Given the description of an element on the screen output the (x, y) to click on. 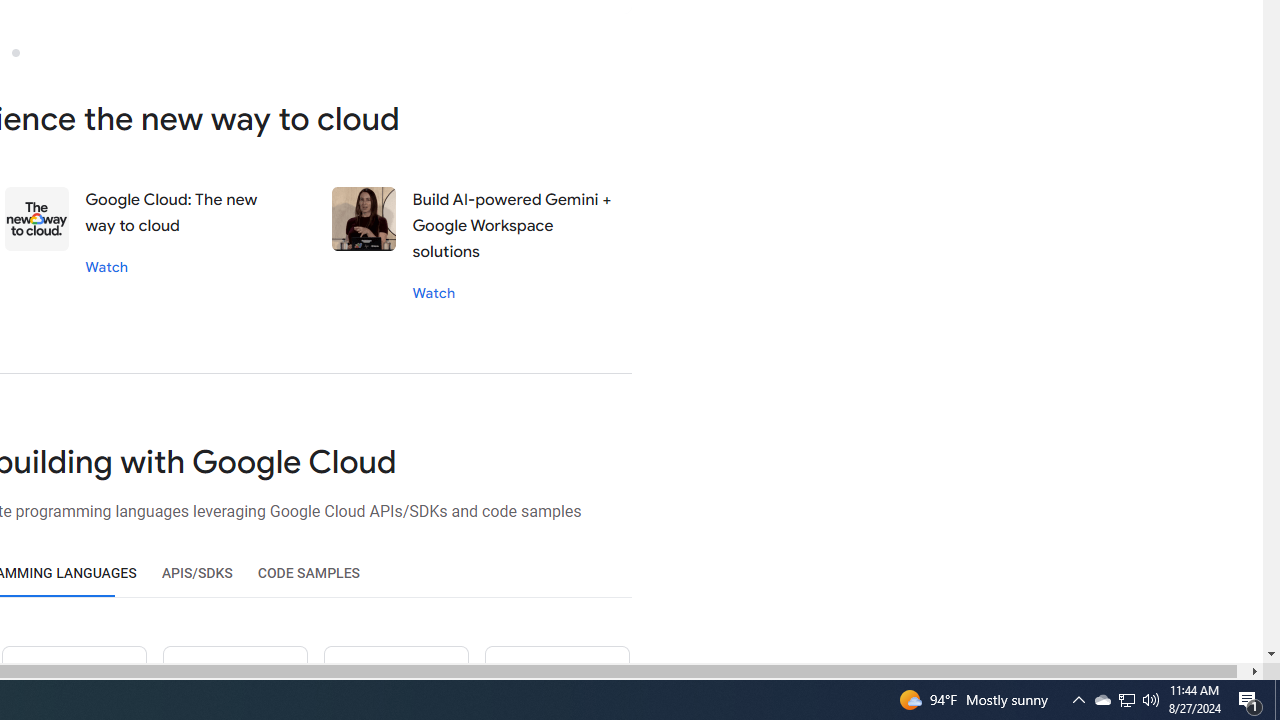
Stephanie wong's interview session (363, 219)
Data value (37, 219)
Ruby icon (235, 682)
Slide 3 (15, 52)
CODE SAMPLES (308, 573)
Watch (433, 292)
APIS/SDKS (196, 573)
CODE SAMPLES (308, 573)
CPP icon (556, 682)
Dot net icon (395, 682)
APIS/SDKS (196, 573)
